Given the description of an element on the screen output the (x, y) to click on. 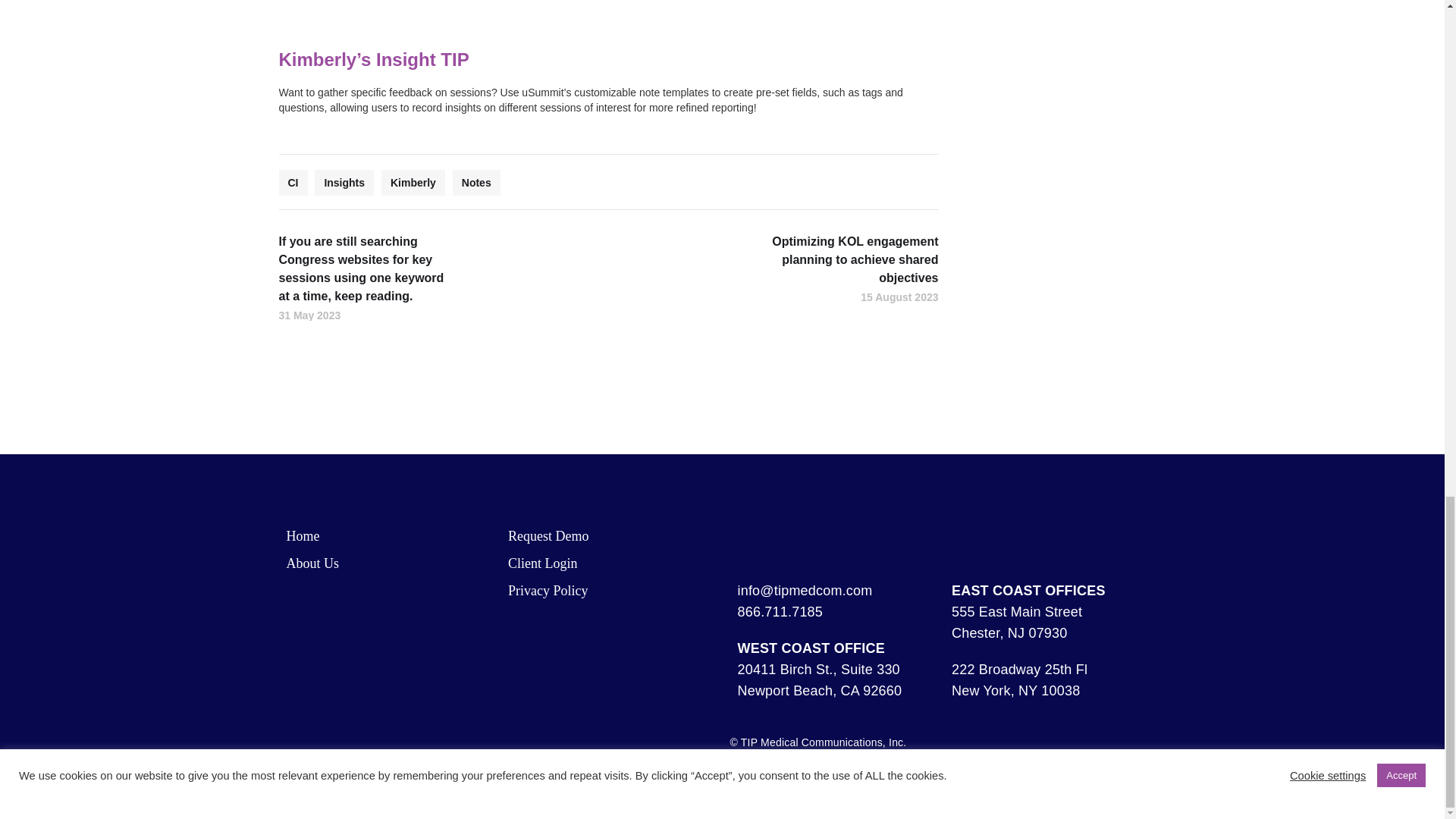
Privacy Policy (548, 590)
Client Login (543, 563)
Request Demo (548, 535)
CI (293, 182)
Notes (476, 182)
Kimberly (413, 182)
Insights (344, 182)
About Us (312, 563)
